Given the description of an element on the screen output the (x, y) to click on. 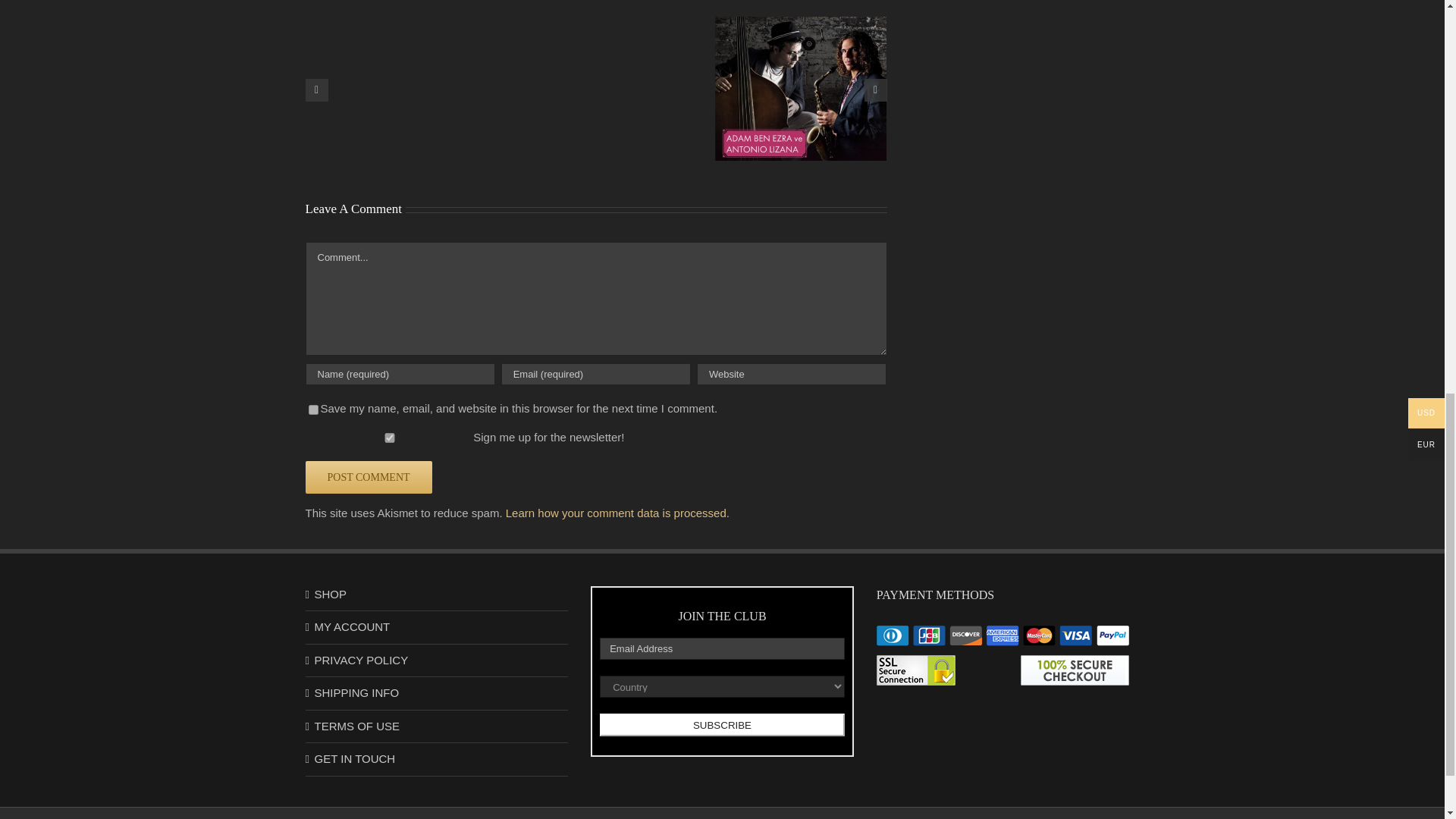
Post Comment (367, 477)
SUBSCRIBE (721, 724)
1 (388, 438)
yes (312, 409)
